Given the description of an element on the screen output the (x, y) to click on. 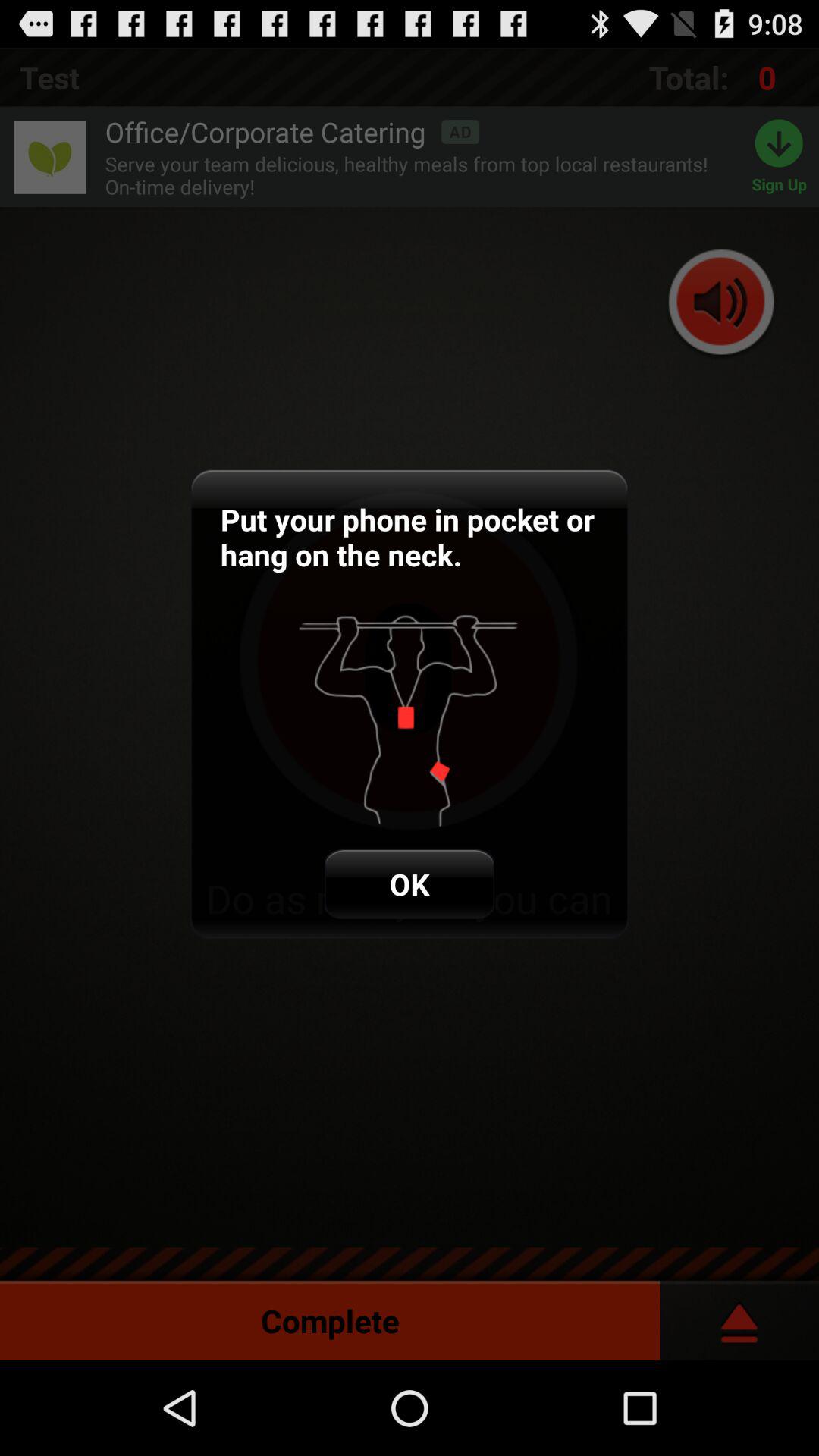
choose ok item (409, 884)
